Given the description of an element on the screen output the (x, y) to click on. 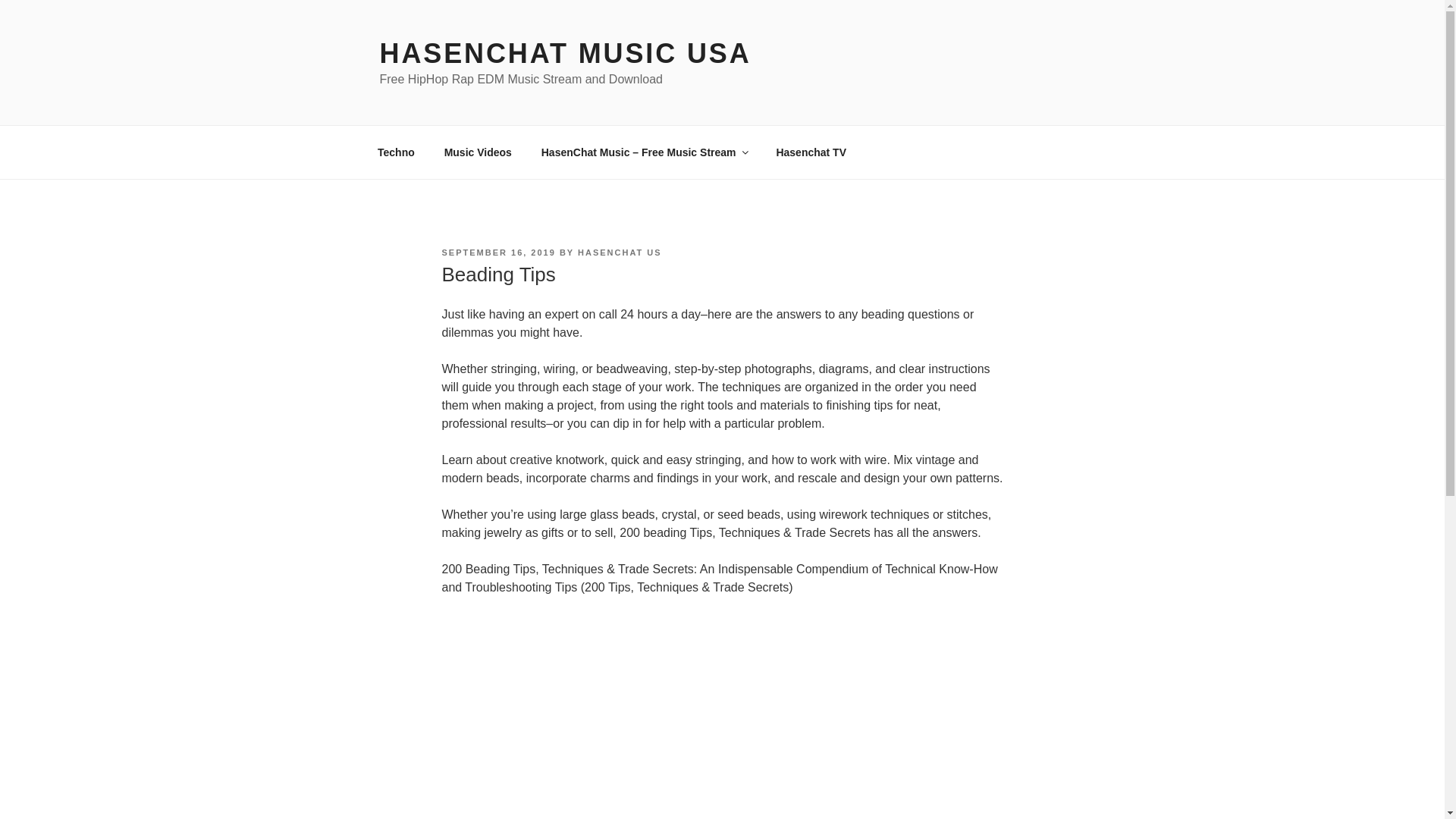
Hasenchat TV (811, 151)
Techno (396, 151)
Music Videos (477, 151)
SEPTEMBER 16, 2019 (497, 252)
HASENCHAT US (620, 252)
HASENCHAT MUSIC USA (564, 52)
